Given the description of an element on the screen output the (x, y) to click on. 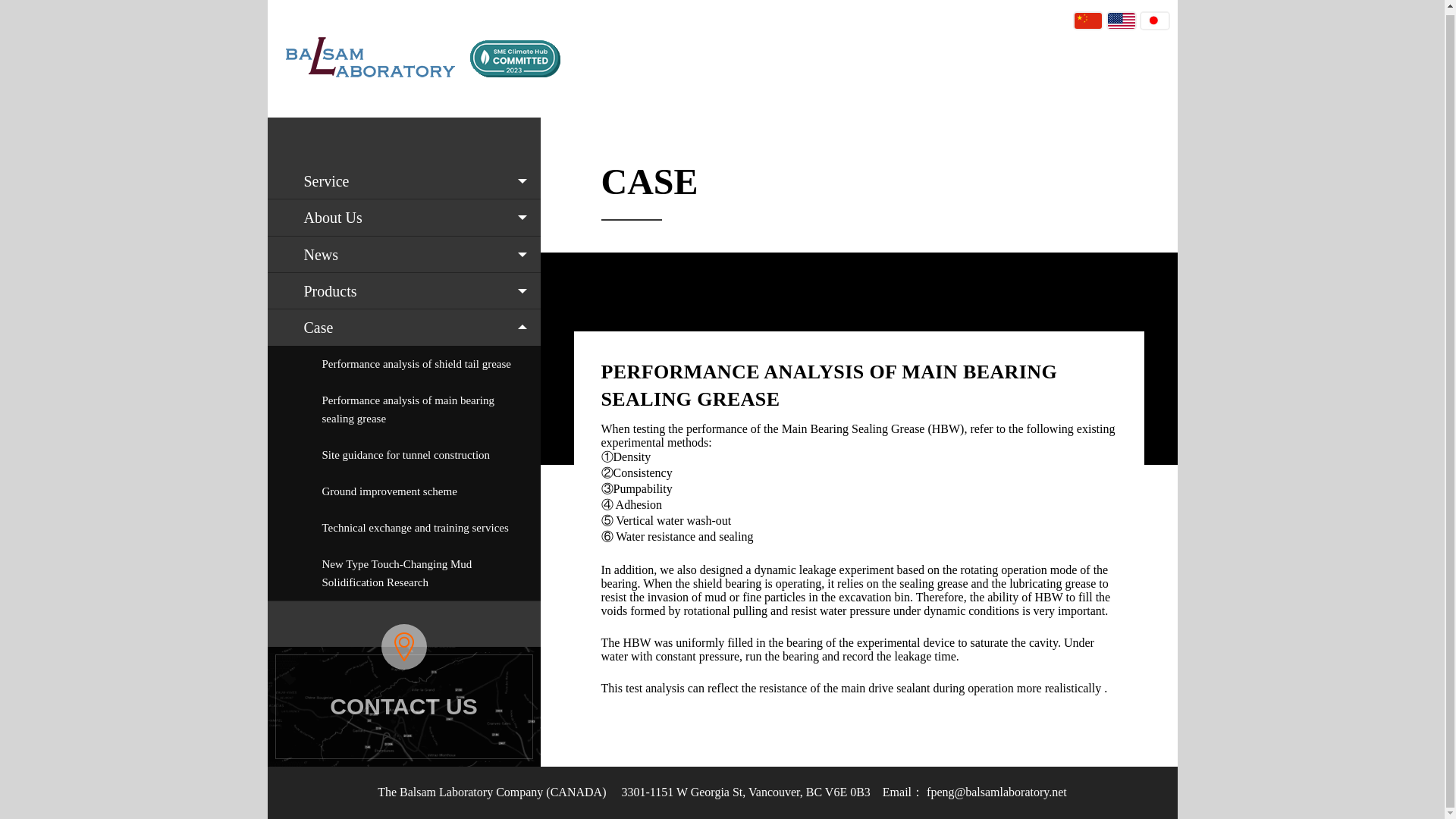
Case (403, 327)
Technical exchange and training services (403, 527)
Ground improvement scheme (403, 491)
CONTACT US (403, 706)
New Type Touch-Changing Mud Solidification Research (403, 573)
Performance analysis of shield tail grease (403, 363)
About Us (403, 217)
Site guidance for tunnel construction (403, 454)
News (403, 254)
Products (403, 290)
